Given the description of an element on the screen output the (x, y) to click on. 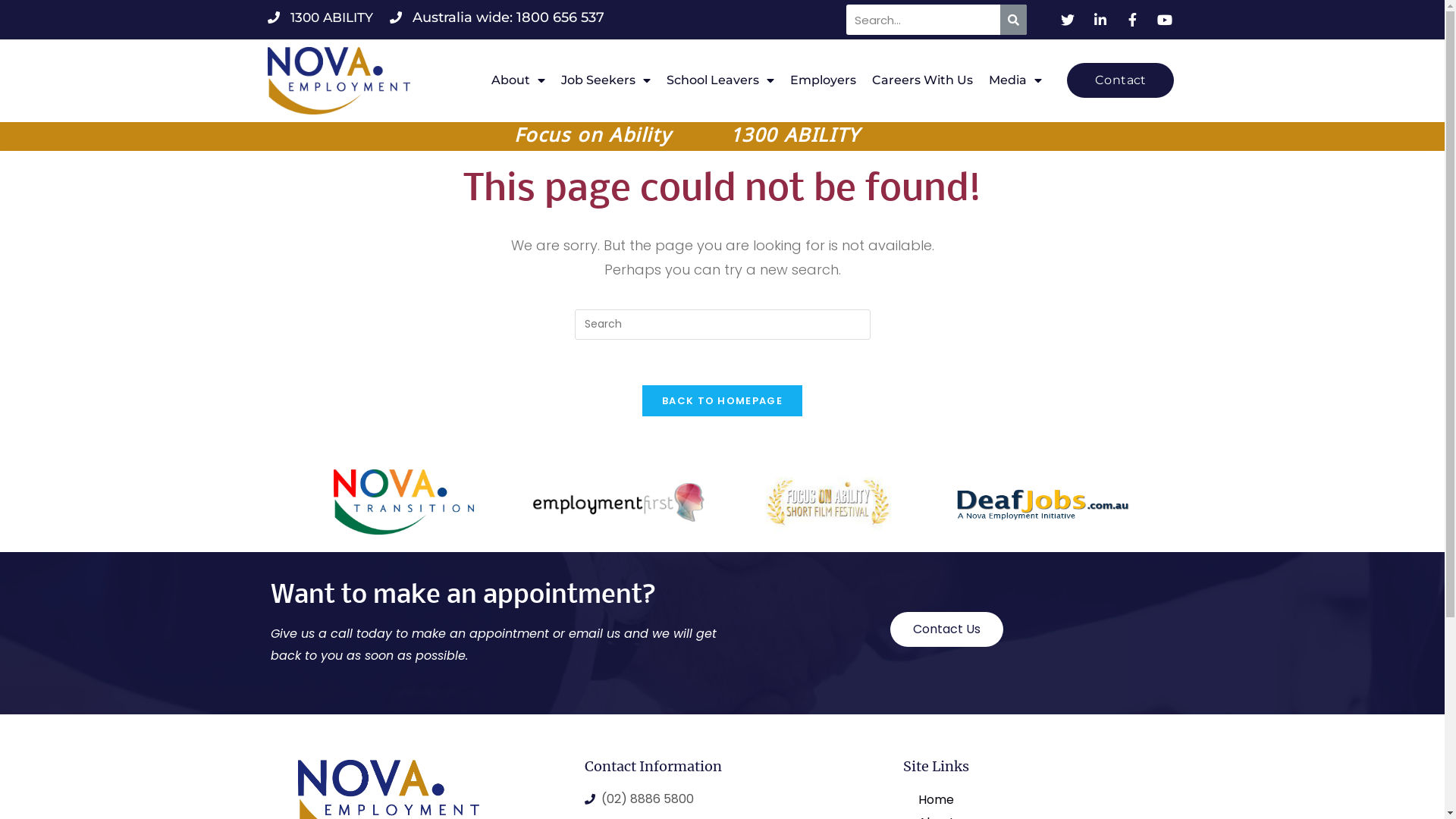
Australia wide: 1800 656 537 Element type: text (496, 17)
School Leavers Element type: text (720, 79)
(02) 8886 5800 Element type: text (713, 799)
Contact Element type: text (1119, 79)
Home Element type: text (1023, 799)
BACK TO HOMEPAGE Element type: text (722, 400)
1300 ABILITY Element type: text (319, 17)
Media Element type: text (1014, 79)
Job Seekers Element type: text (605, 79)
Search Element type: hover (1013, 19)
About Element type: text (518, 79)
Contact Us Element type: text (946, 628)
Employers Element type: text (823, 79)
Search Element type: hover (923, 19)
Nova Employment Colour Element type: hover (338, 80)
Careers With Us Element type: text (922, 79)
